Given the description of an element on the screen output the (x, y) to click on. 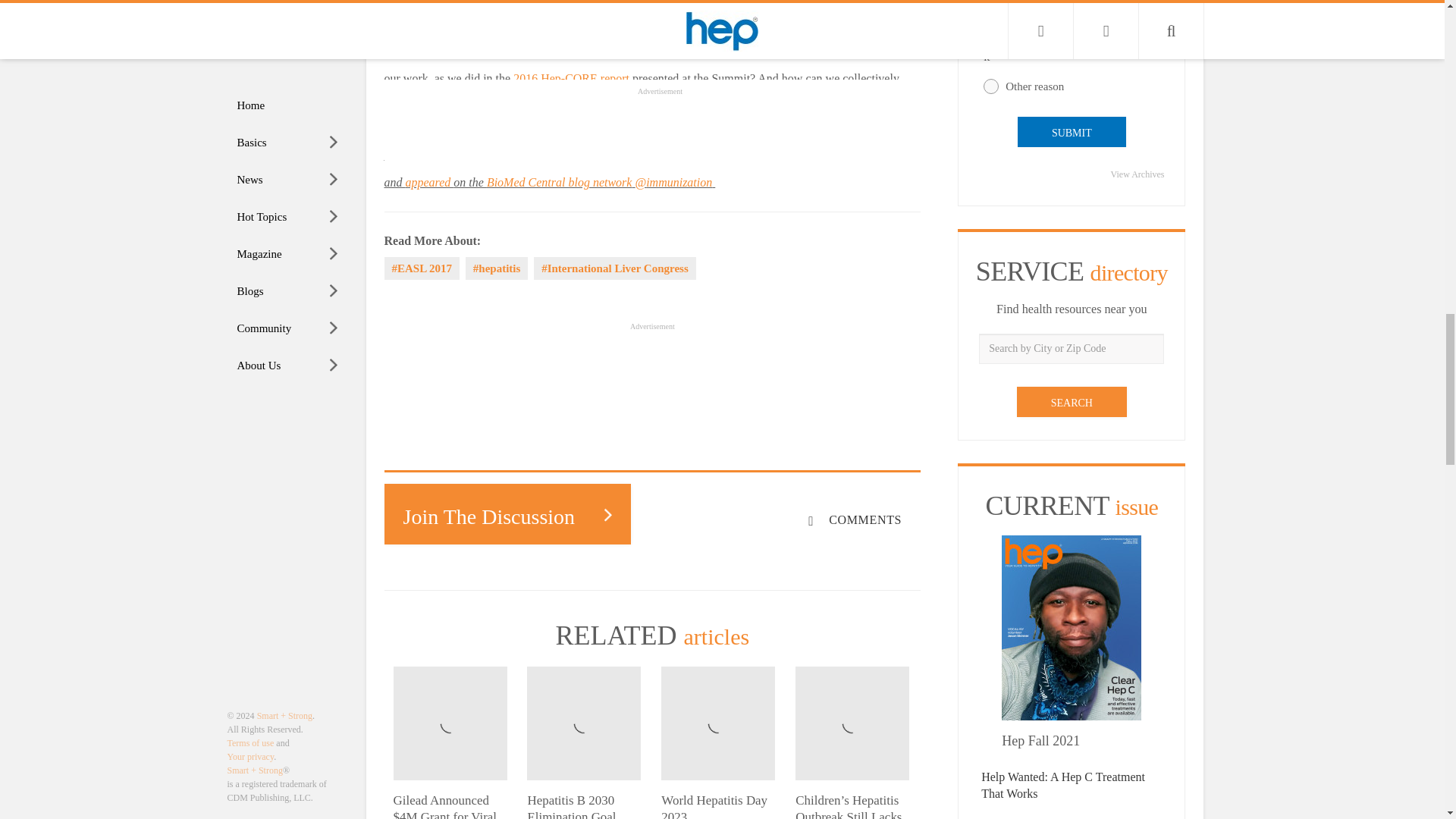
3rd party ad content (660, 367)
